Given the description of an element on the screen output the (x, y) to click on. 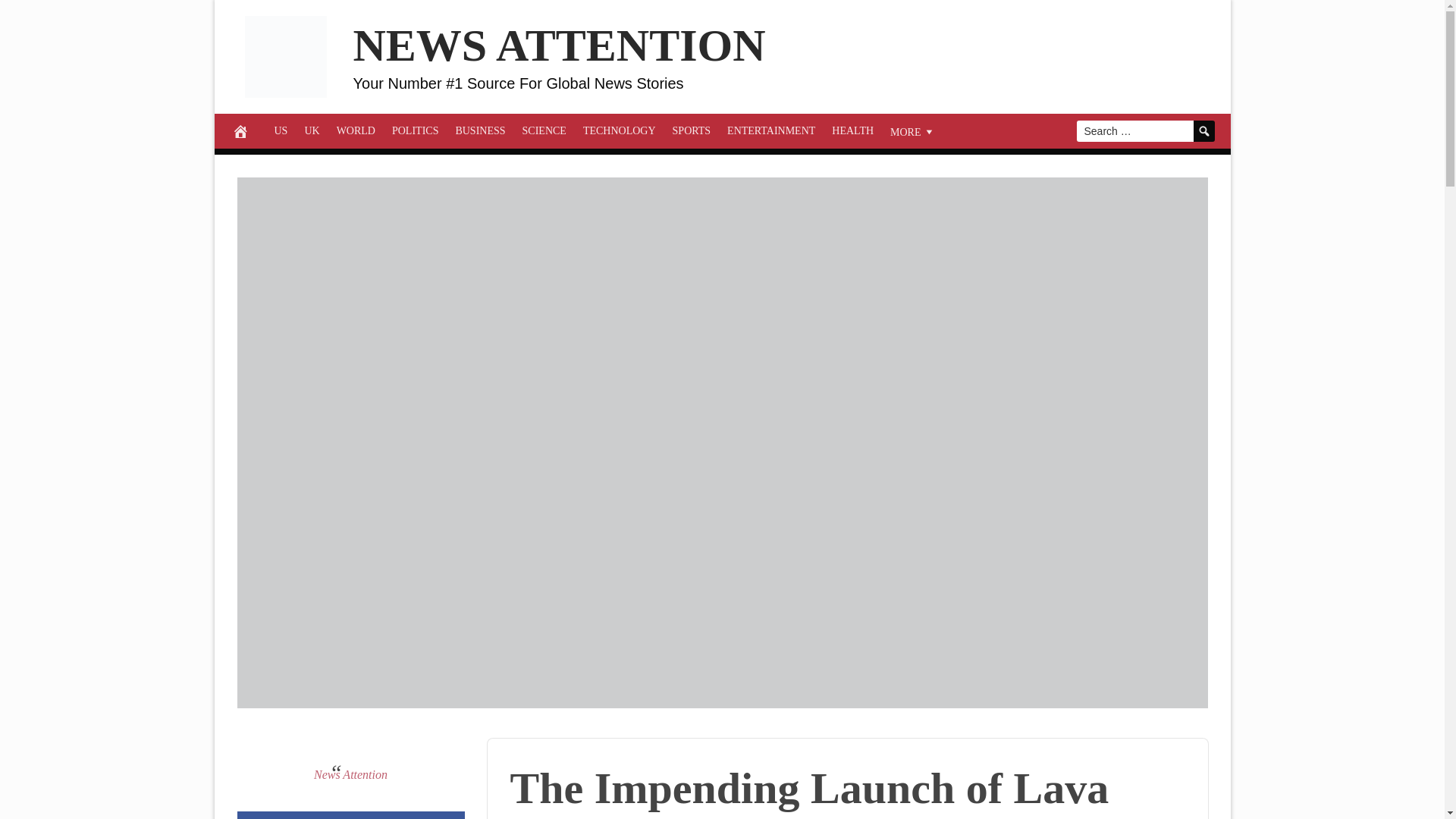
SCIENCE (544, 130)
POLITICS (415, 130)
HEALTH (853, 130)
BUSINESS (479, 130)
SPORTS (691, 130)
NEWS ATTENTION (559, 45)
WORLD (356, 130)
TECHNOLOGY (619, 130)
ENTERTAINMENT (771, 130)
